Given the description of an element on the screen output the (x, y) to click on. 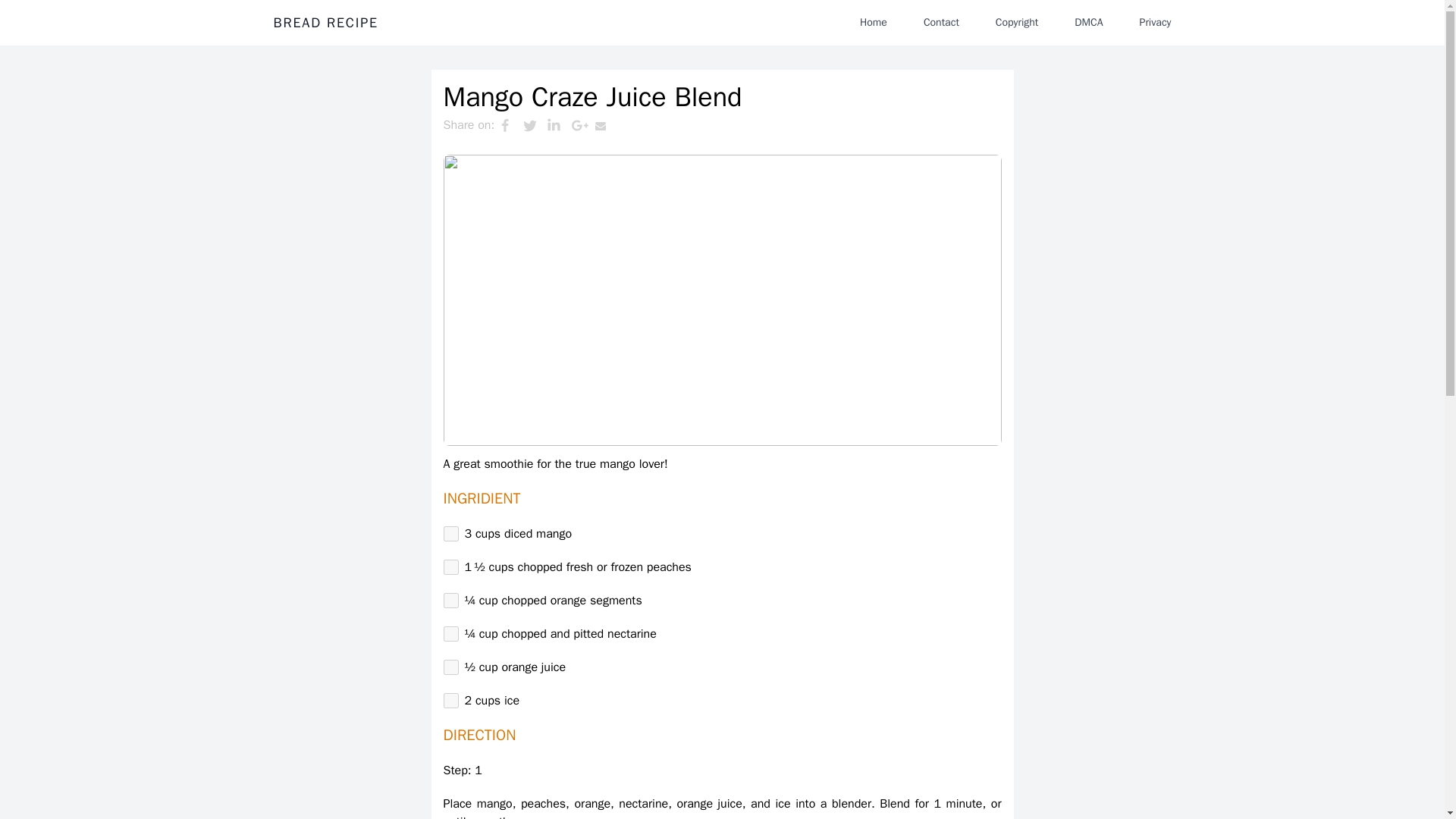
on (450, 700)
Contact (941, 22)
Home (873, 22)
Share this on Twitter (534, 125)
Share this on Google Plus (582, 125)
Share this through Email (607, 125)
Privacy (1154, 22)
on (450, 533)
on (450, 600)
Copyright (1016, 22)
BREAD RECIPE (325, 22)
Share this on Facebook (509, 125)
DMCA (1088, 22)
Share this on Linkedin (558, 125)
on (450, 633)
